Given the description of an element on the screen output the (x, y) to click on. 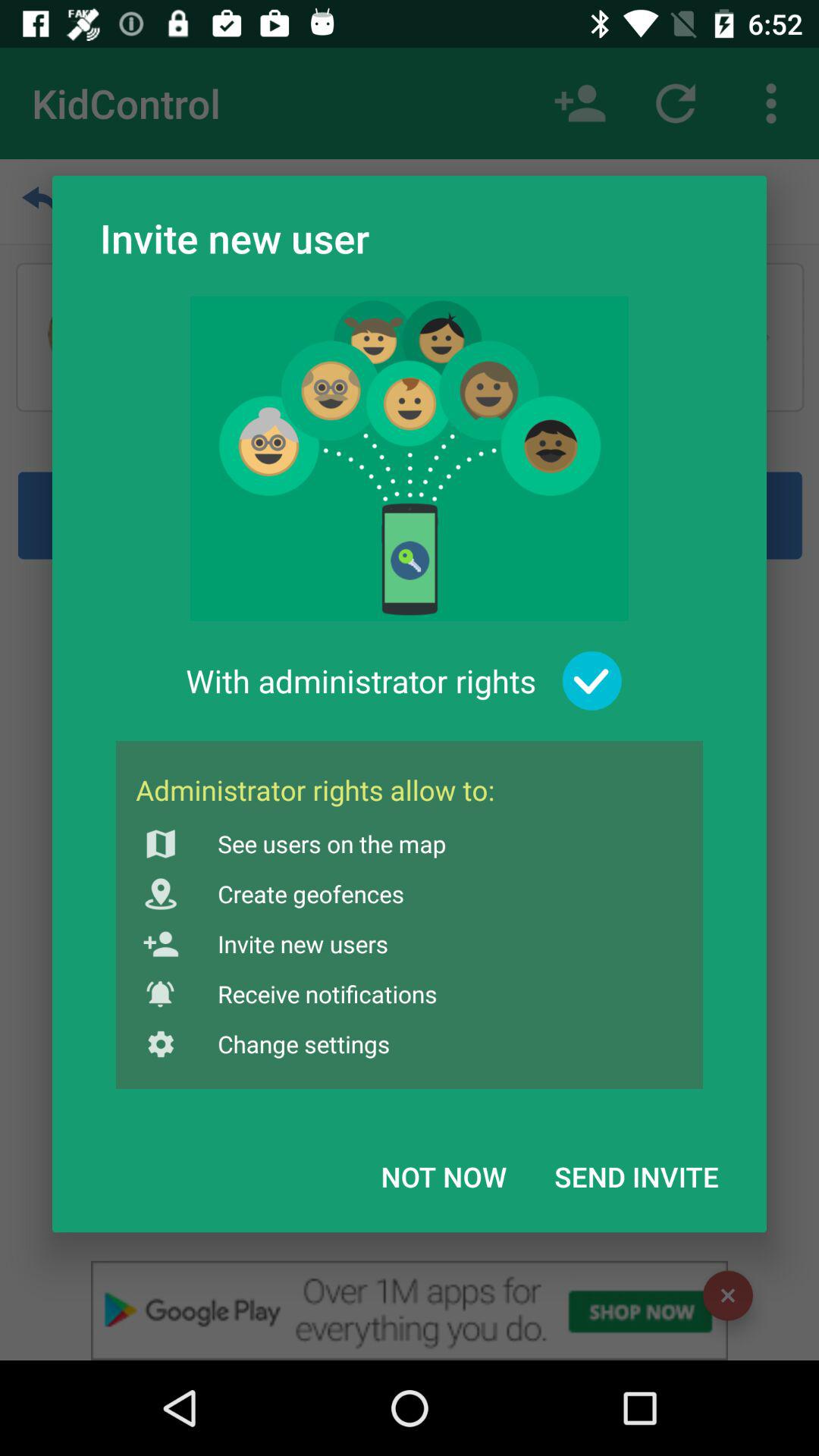
launch the item above the send invite item (592, 680)
